Given the description of an element on the screen output the (x, y) to click on. 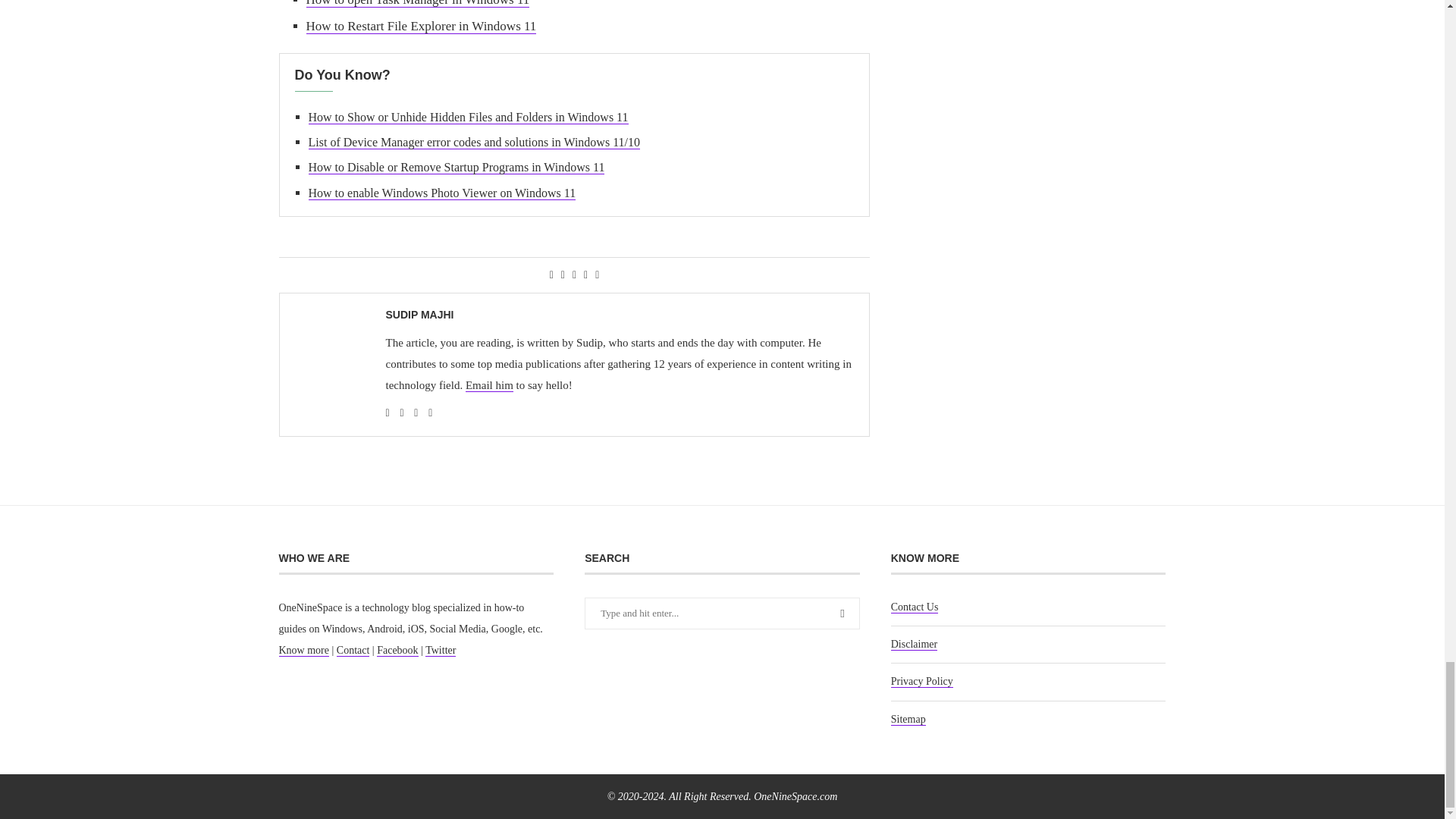
How to enable Windows Photo Viewer on Windows 11 (441, 192)
How to Disable or Remove Startup Programs in Windows 11 (455, 167)
How to open Task Manager in Windows 11 (417, 3)
How to Show or Unhide Hidden Files and Folders in Windows 11 (467, 117)
Email him (489, 385)
SUDIP MAJHI (418, 314)
How to Restart File Explorer in Windows 11 (421, 26)
Author Sudip Majhi (418, 314)
